Given the description of an element on the screen output the (x, y) to click on. 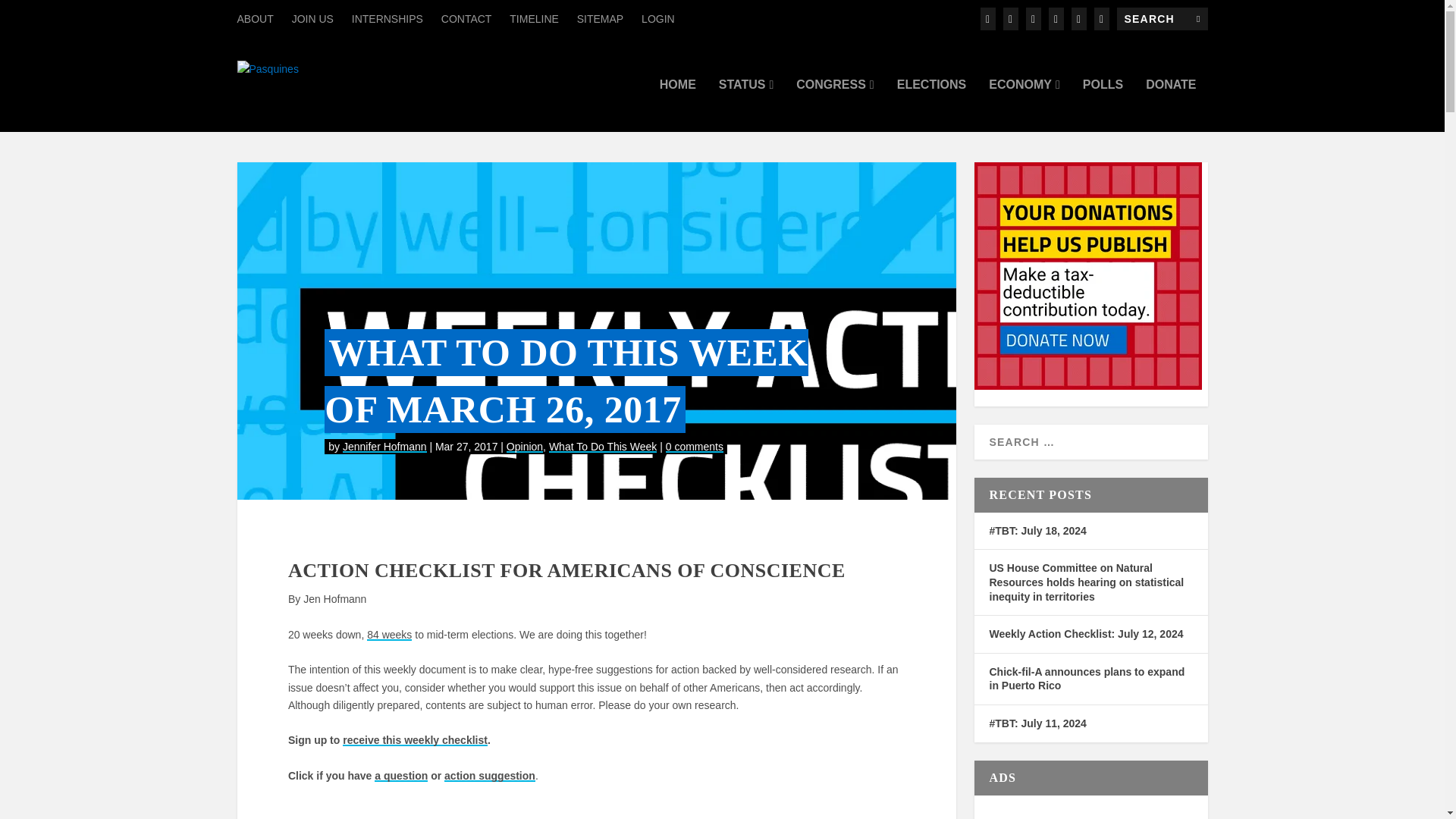
TIMELINE (534, 18)
CONTACT (466, 18)
ABOUT (254, 18)
INTERNSHIPS (387, 18)
SITEMAP (599, 18)
JOIN US (312, 18)
Search for: (1161, 18)
STATUS (746, 104)
CONGRESS (834, 104)
